Given the description of an element on the screen output the (x, y) to click on. 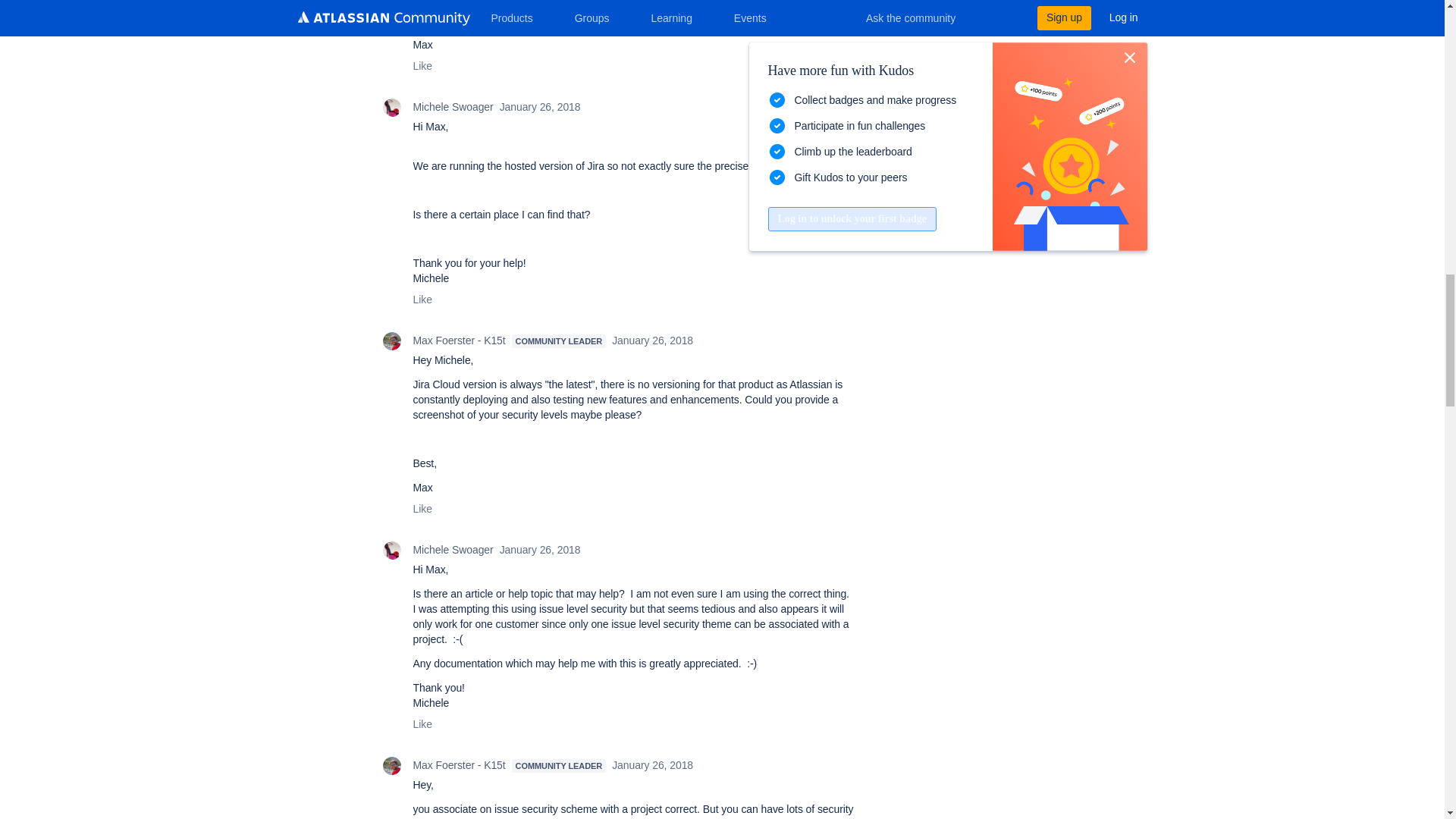
Michele Swoager (390, 550)
Max Foerster - K15t (390, 341)
Max Foerster - K15t (390, 765)
Michele Swoager (390, 107)
